Given the description of an element on the screen output the (x, y) to click on. 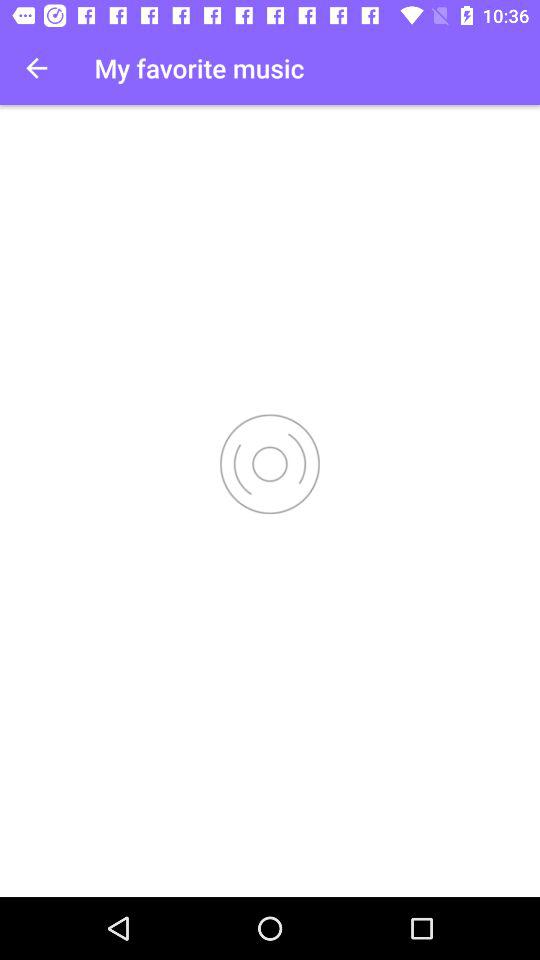
launch the icon to the left of my favorite music item (36, 68)
